Given the description of an element on the screen output the (x, y) to click on. 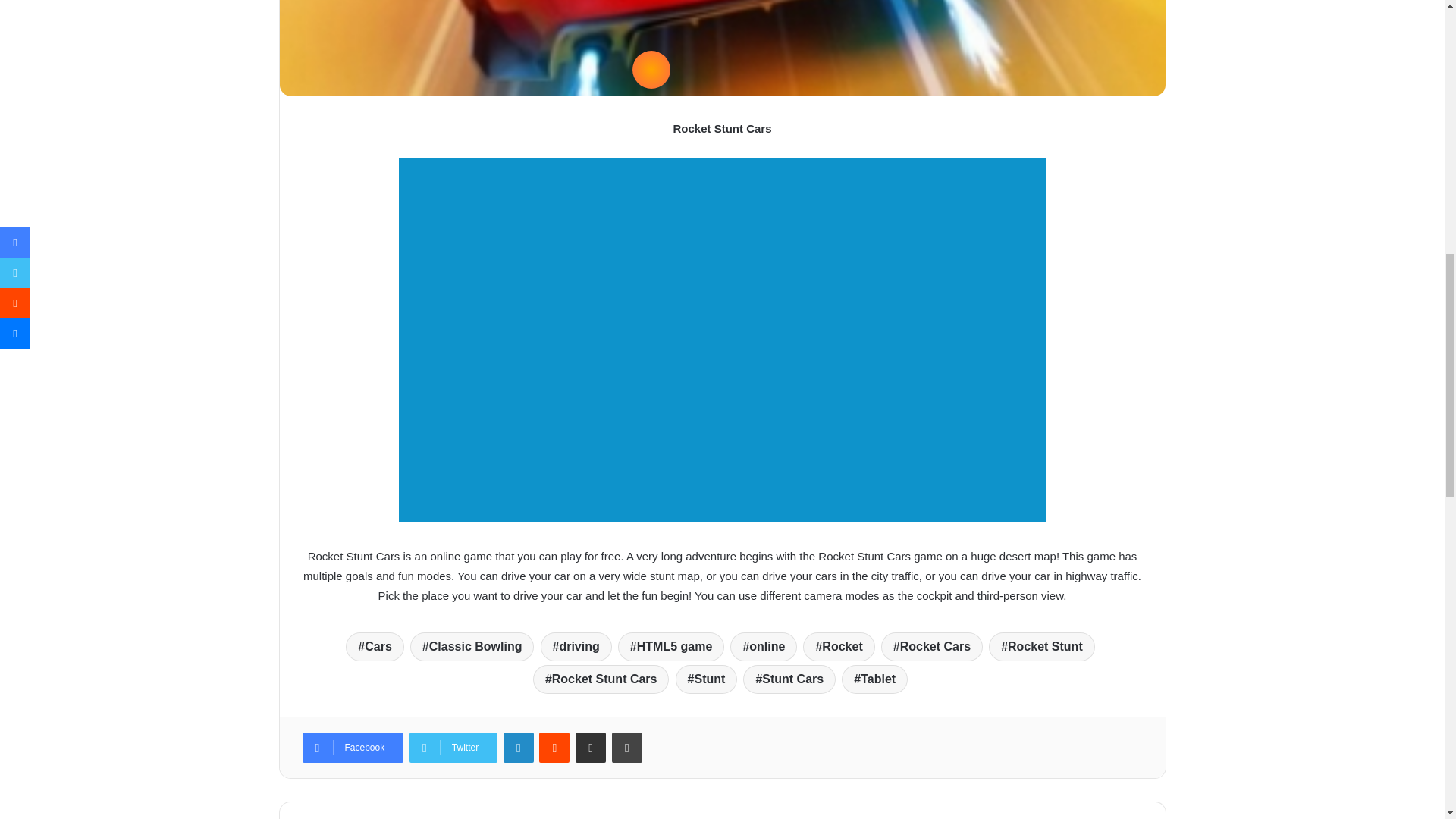
Twitter (453, 747)
Rocket Stunt (1041, 646)
Rocket Stunt Cars (600, 679)
HTML5 game (670, 646)
LinkedIn (518, 747)
Tablet (874, 679)
Rocket (839, 646)
Cars (374, 646)
online (763, 646)
LinkedIn (518, 747)
Share via Email (590, 747)
Facebook (352, 747)
Reddit (553, 747)
Facebook (352, 747)
driving (575, 646)
